Given the description of an element on the screen output the (x, y) to click on. 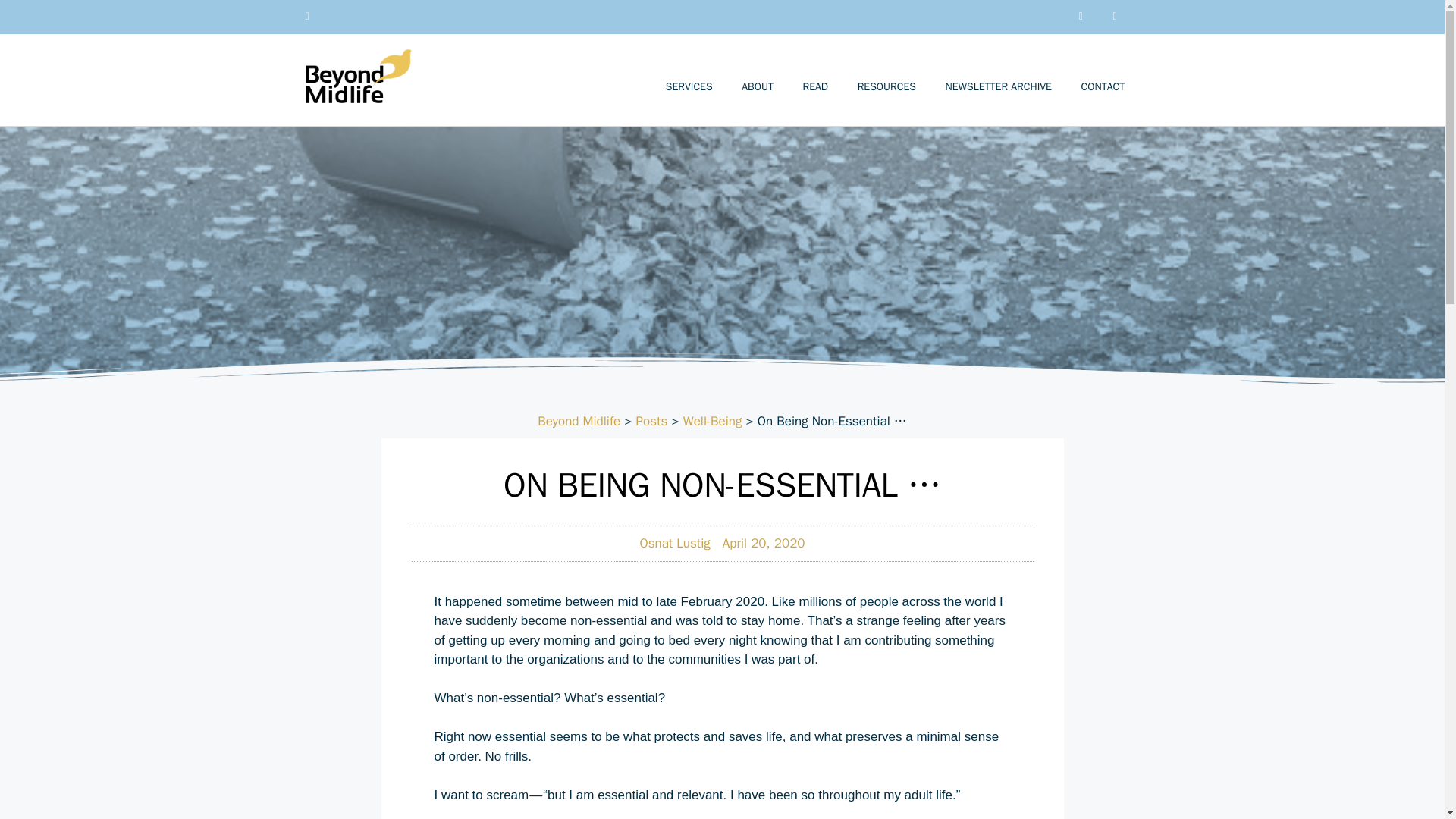
SERVICES (688, 86)
Go to Posts. (652, 421)
ABOUT (756, 86)
Posts (652, 421)
Go to the Well-Being Category archives. (712, 421)
READ (815, 86)
Beyond Midlife (578, 421)
Go to Beyond Midlife. (578, 421)
RESOURCES (886, 86)
April 20, 2020 (763, 543)
CONTACT (1101, 86)
Osnat Lustig (674, 543)
NEWSLETTER ARCHIVE (997, 86)
Well-Being (712, 421)
